Given the description of an element on the screen output the (x, y) to click on. 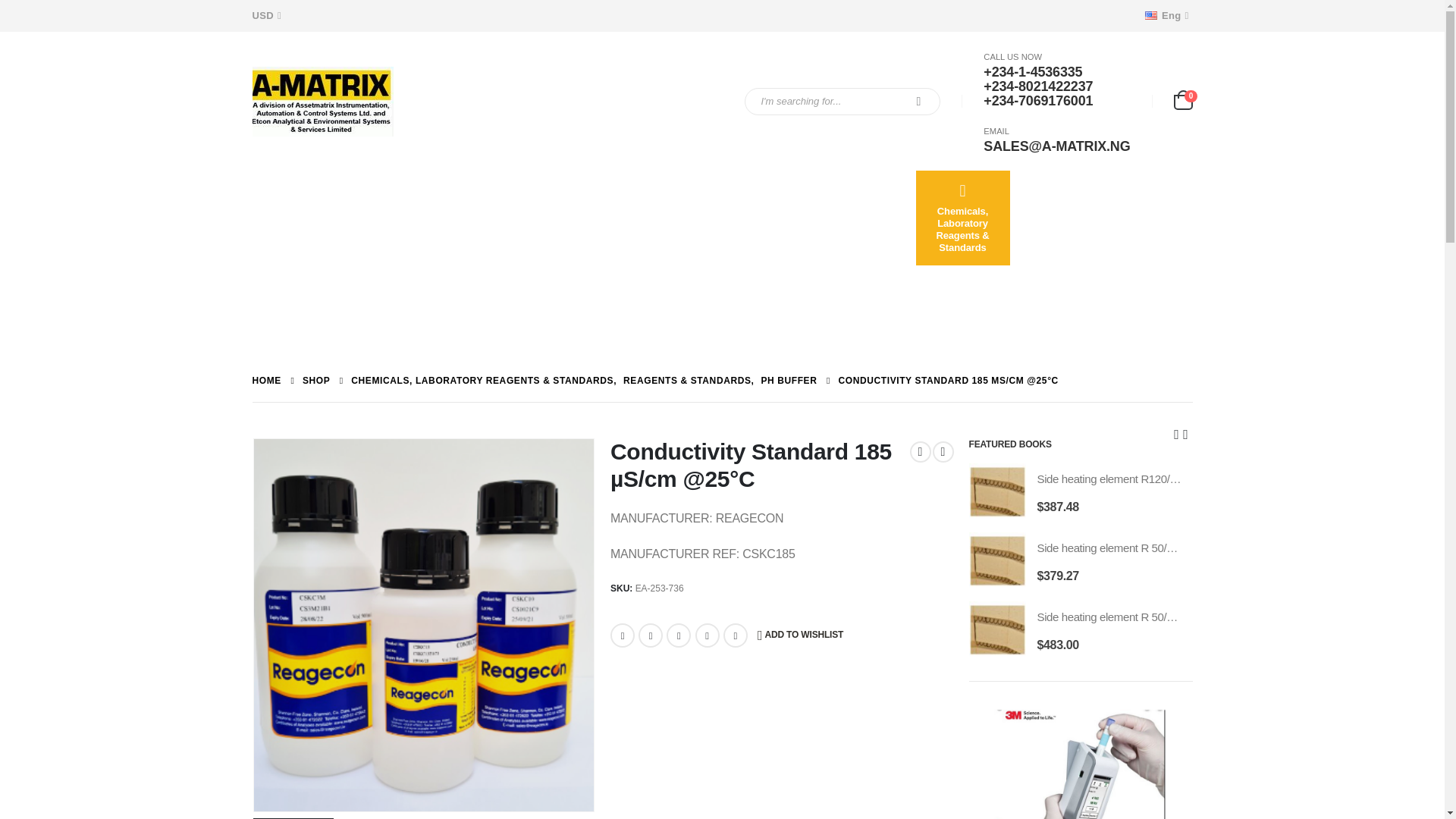
Search (917, 100)
Go to Home Page (266, 380)
Facebook (622, 635)
Electro chemistry (677, 217)
Temperature Meters (298, 300)
Twitter (650, 635)
SHOP (316, 380)
Screenshot 2023-11-14 104421 (423, 624)
AllCategories (298, 217)
HOME (266, 380)
